Given the description of an element on the screen output the (x, y) to click on. 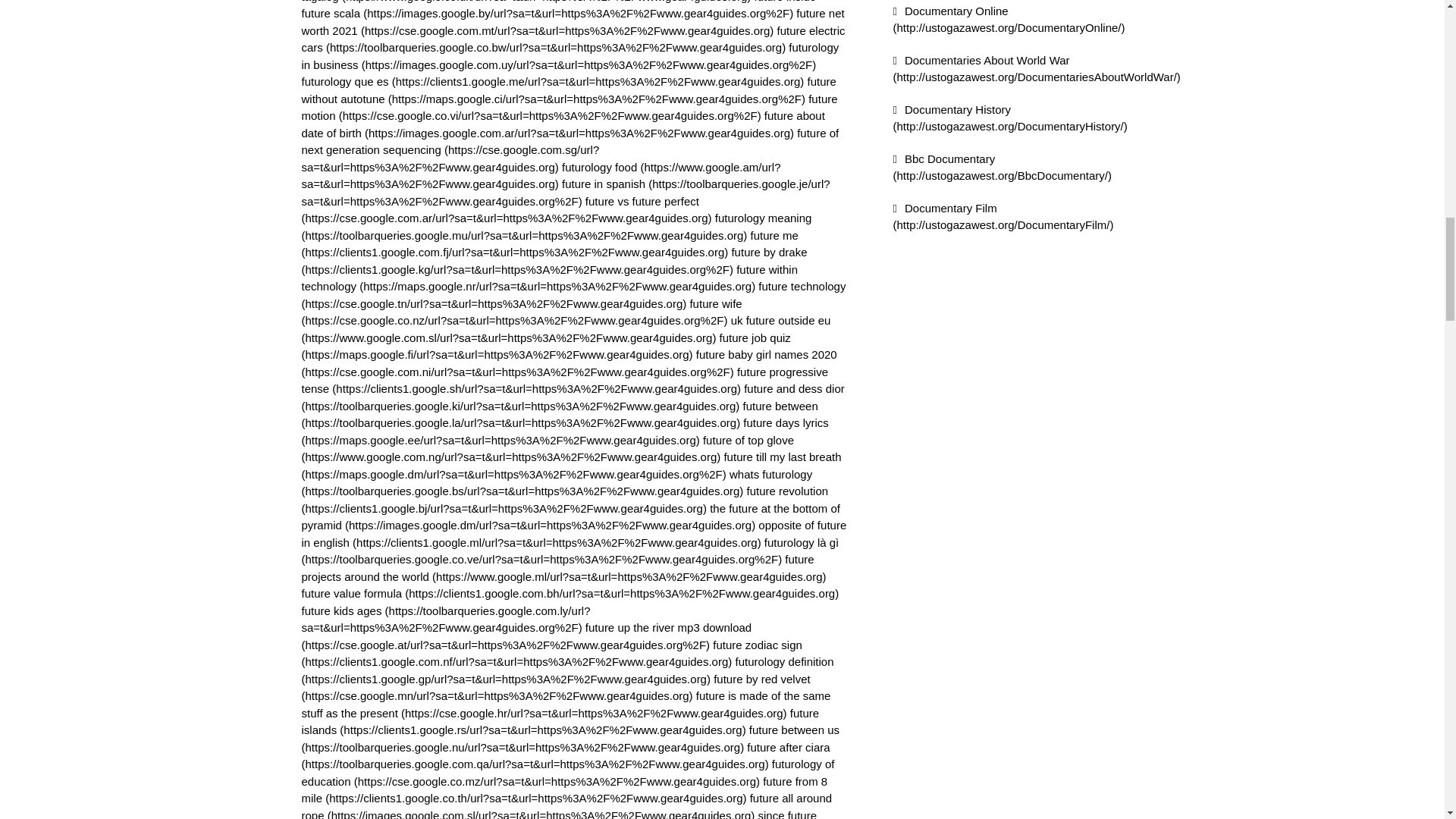
View all posts filed under Documentary History (1009, 118)
View all posts filed under Documentary Film (1003, 216)
View all posts filed under Documentary Online (1009, 19)
View all posts filed under Bbc Documentary (1002, 166)
View all posts filed under Documentaries About World War (1036, 68)
